Given the description of an element on the screen output the (x, y) to click on. 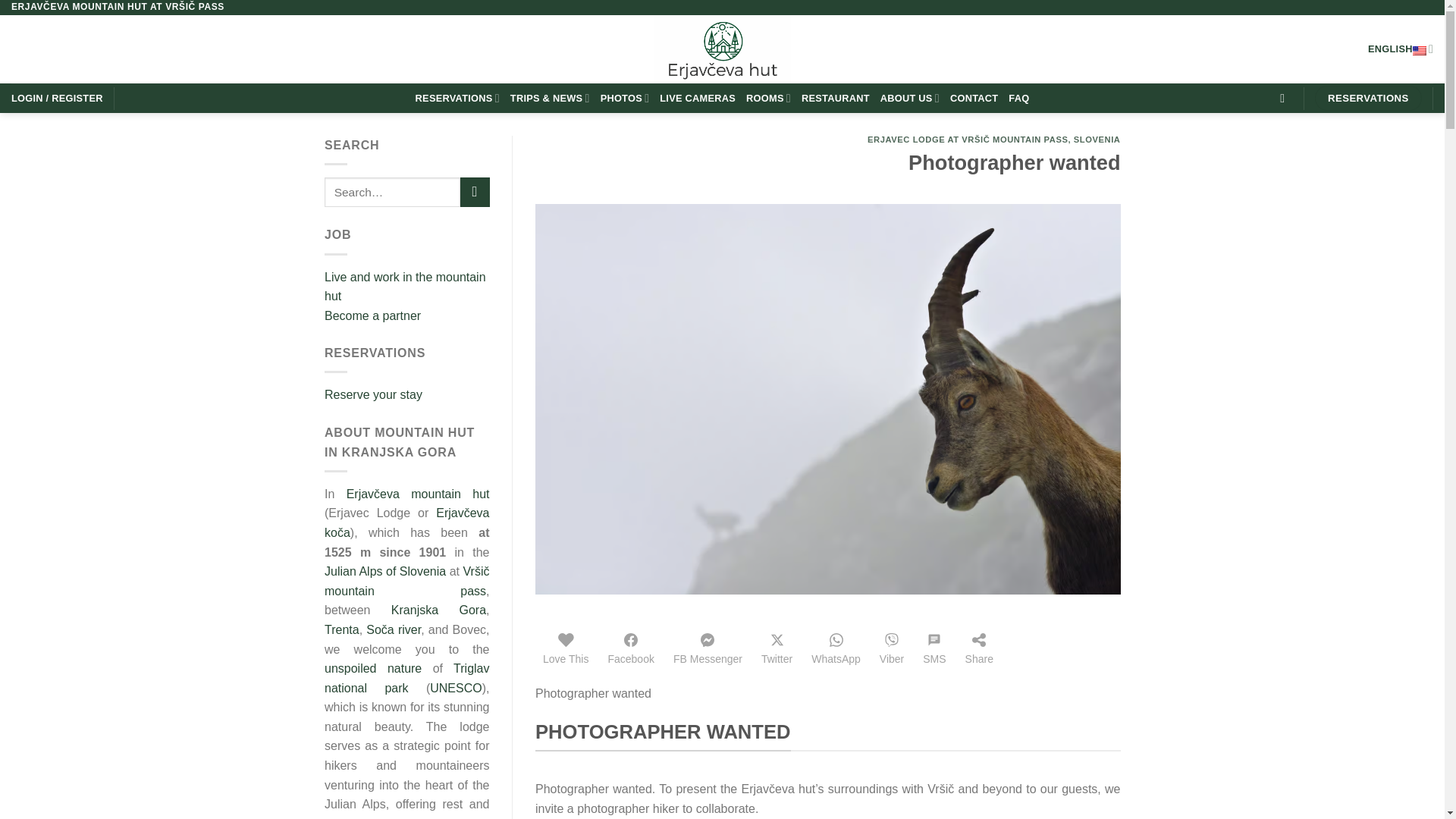
Login (57, 98)
Share on FB Messenger (707, 648)
ENGLISH (1400, 48)
Share on Facebook (630, 648)
RESERVATIONS (456, 98)
Share on Love This (565, 648)
